Given the description of an element on the screen output the (x, y) to click on. 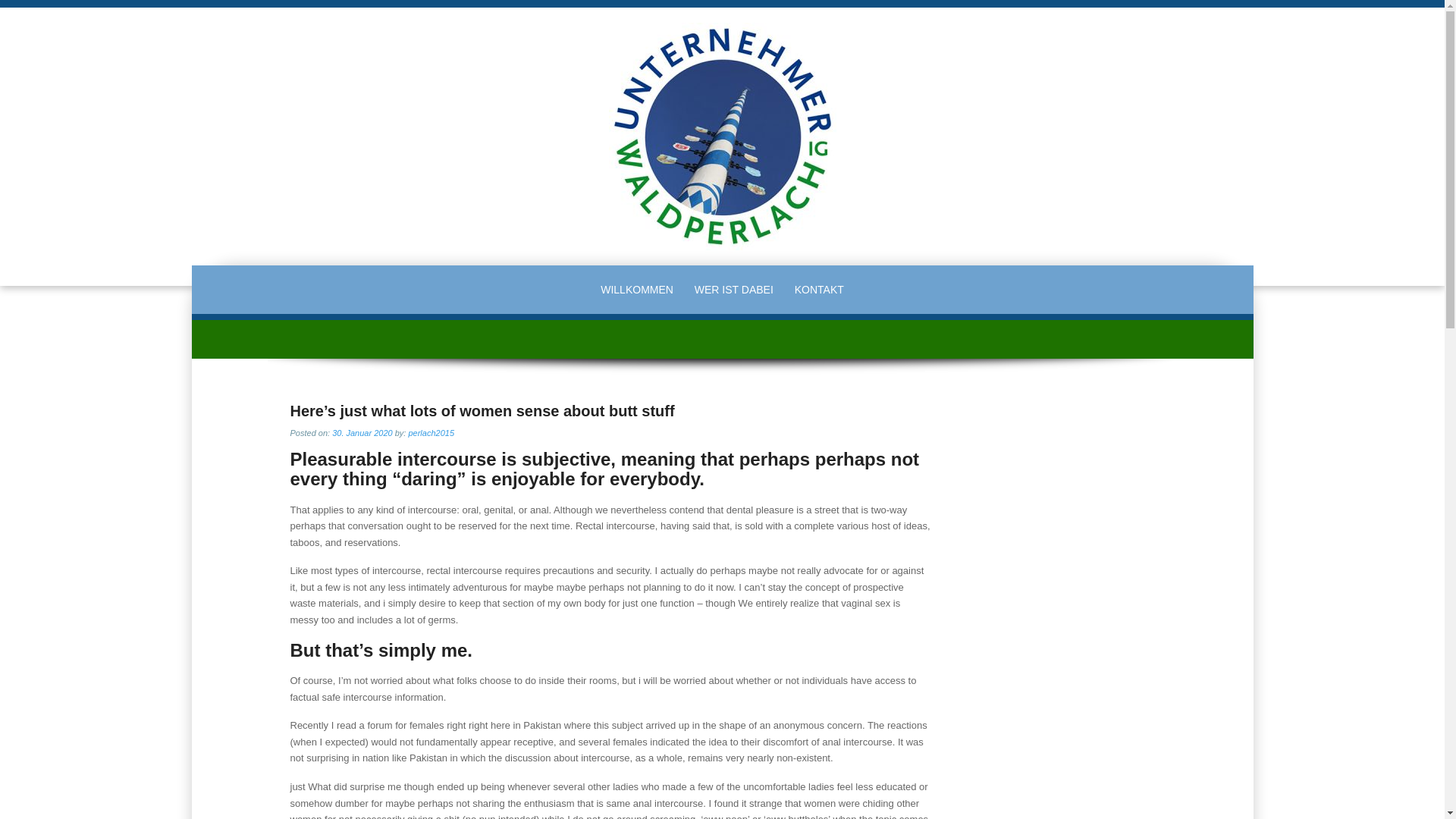
WILLKOMMEN (636, 289)
perlach2015 (430, 431)
SKIP TO CONTENT (293, 274)
KONTAKT (819, 289)
WER IST DABEI (734, 289)
30. Januar 2020 (362, 431)
Unternehmer Waldperlach e.V. (721, 134)
